Given the description of an element on the screen output the (x, y) to click on. 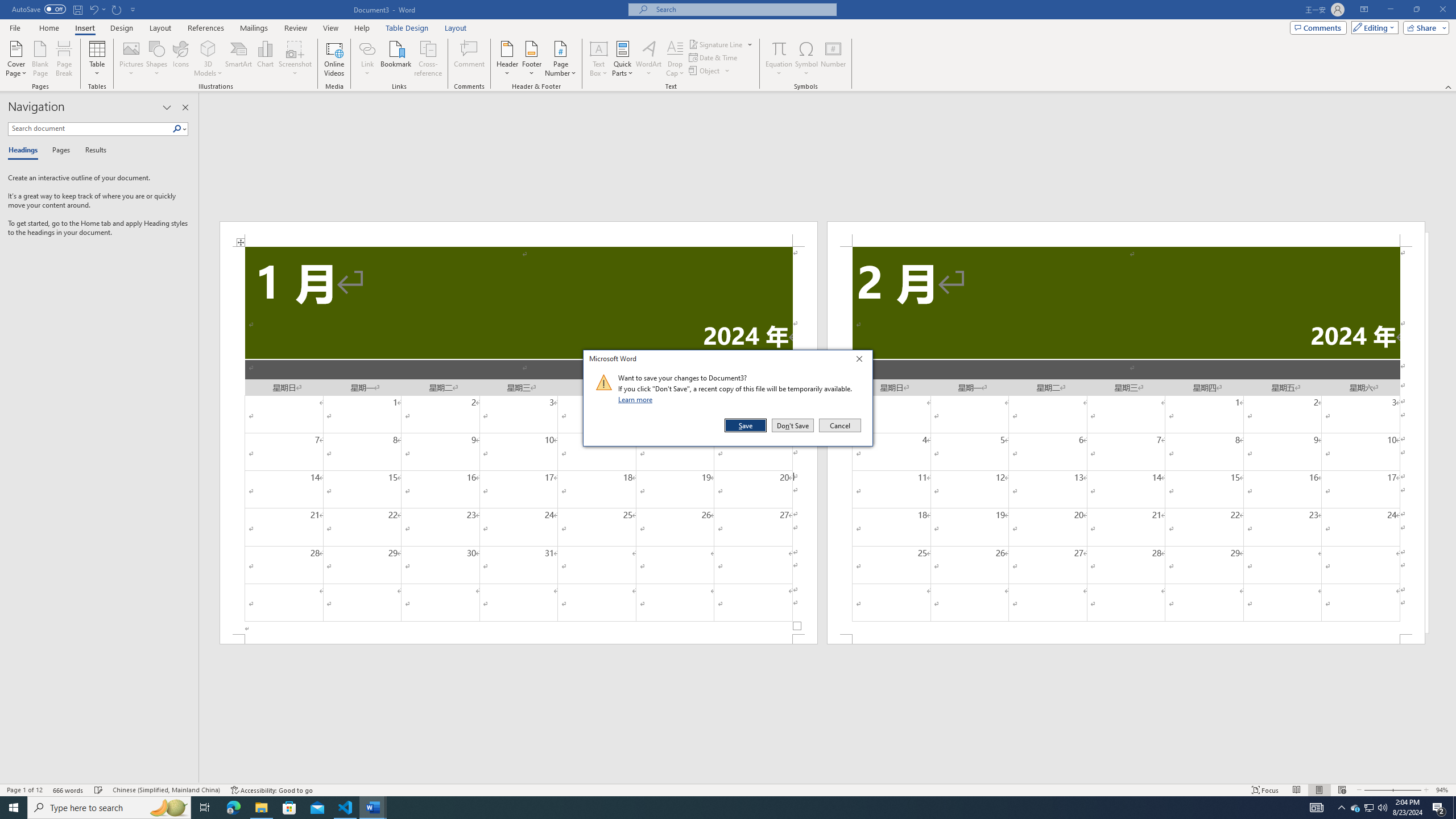
Running applications (717, 807)
Comment (469, 58)
Signature Line (716, 44)
Cross-reference... (428, 58)
Screenshot (295, 58)
Table (97, 58)
